Given the description of an element on the screen output the (x, y) to click on. 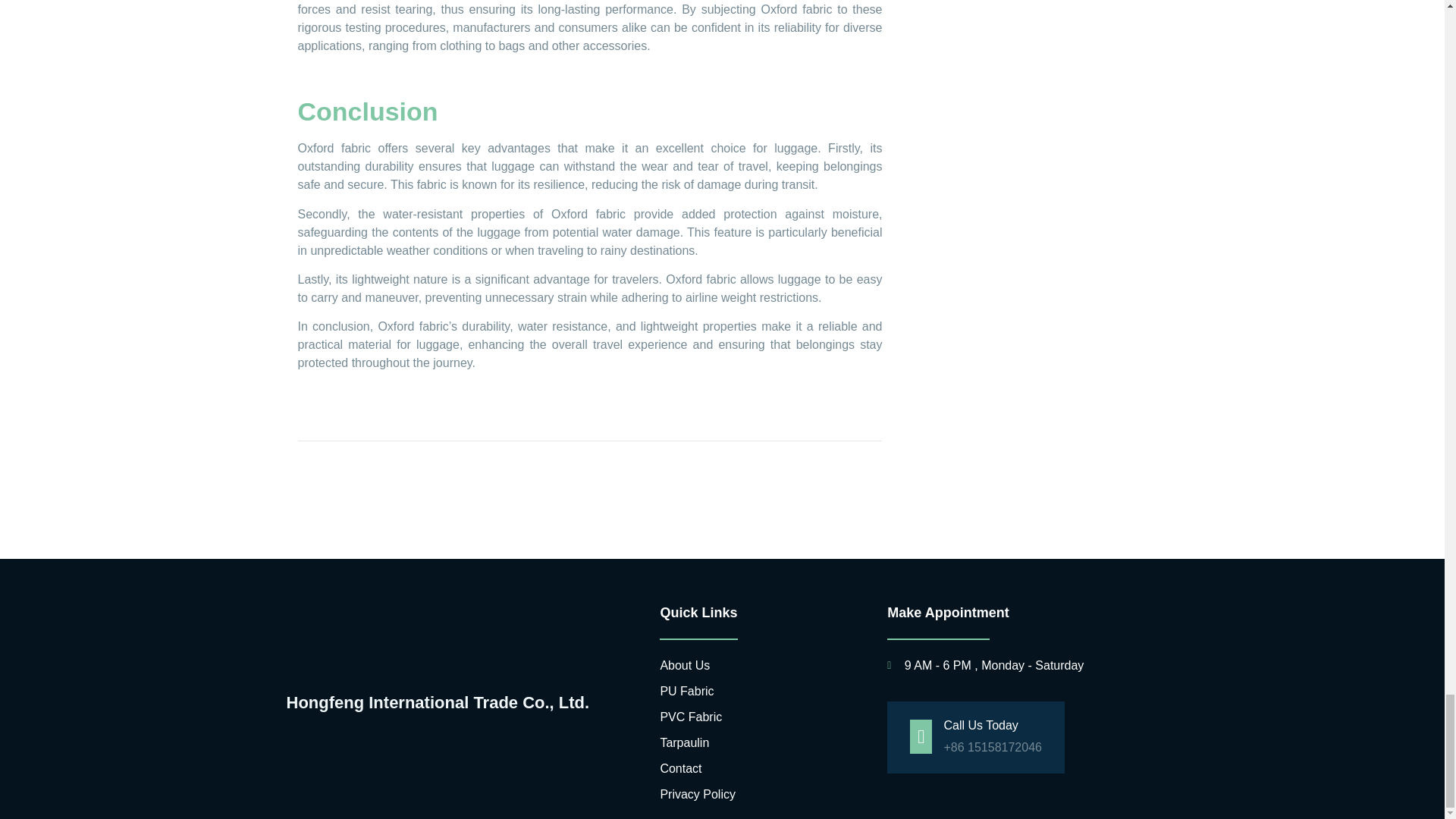
Make Appointment (1020, 612)
9 AM - 6 PM , Monday - Saturday (1020, 665)
Hongfeng International Trade Co., Ltd. (450, 703)
Quick Links (761, 612)
